Given the description of an element on the screen output the (x, y) to click on. 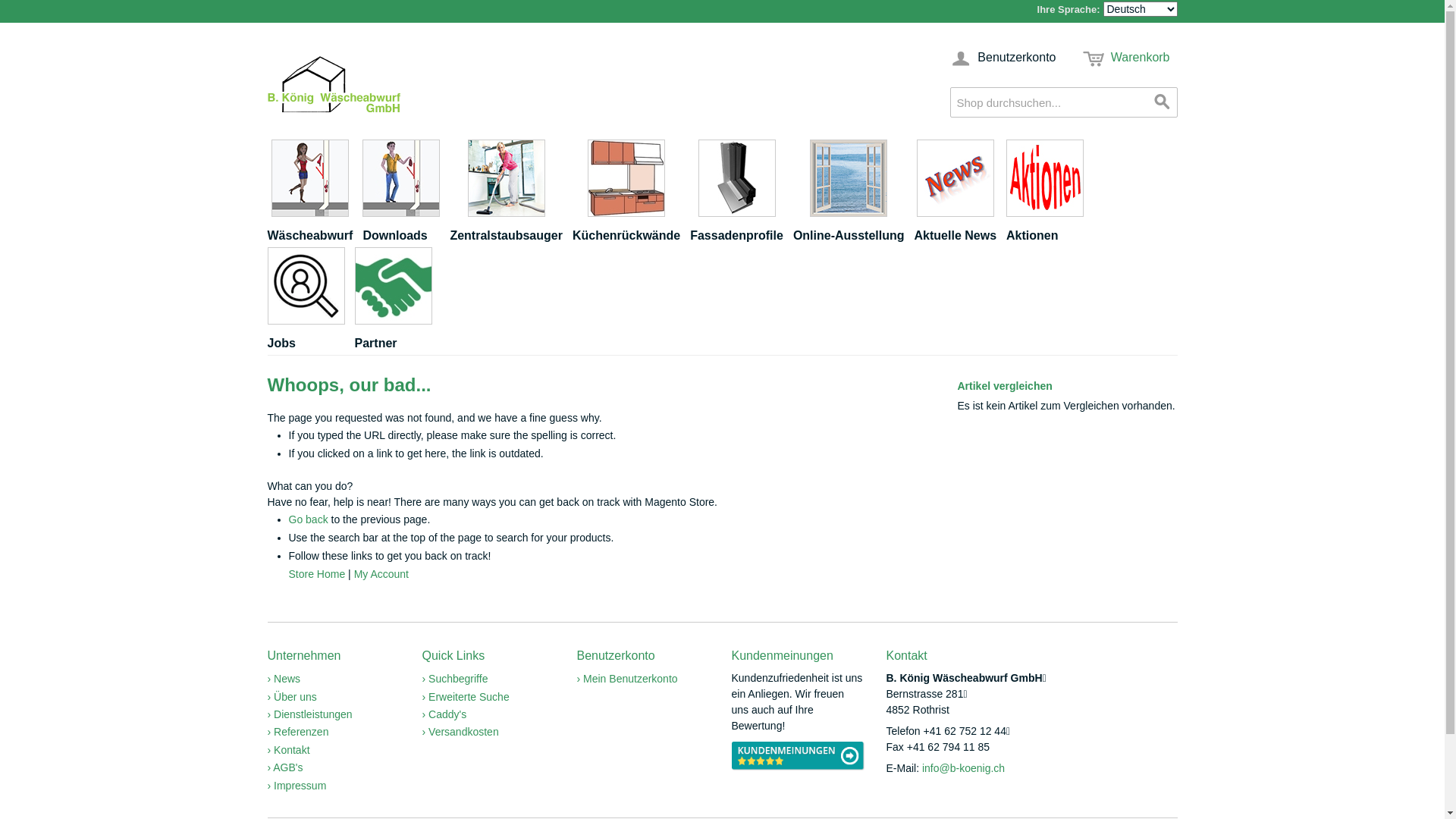
Partner Element type: text (398, 300)
Referenzen Element type: text (297, 731)
info@b-koenig.ch Element type: text (963, 768)
Suchbegriffe Element type: text (454, 678)
Go back Element type: text (307, 519)
Jobs Element type: text (310, 300)
Fassadenprofile Element type: text (741, 193)
Aktionen Element type: text (1049, 193)
My Account Element type: text (381, 573)
Dienstleistungen Element type: text (308, 714)
Erweiterte Suche Element type: text (464, 696)
Mein Benutzerkonto Element type: text (626, 678)
Aktuelle News Element type: text (960, 193)
AGB's Element type: text (284, 767)
News Element type: text (283, 678)
Suche Element type: hover (1161, 102)
Warenkorb Element type: text (1126, 58)
Zentralstaubsauger Element type: text (510, 193)
Online-Ausstellung Element type: text (853, 193)
Versandkosten Element type: text (459, 731)
Kontakt Element type: text (287, 749)
Benutzerkonto Element type: text (1002, 58)
Caddy's Element type: text (443, 714)
Downloads Element type: text (405, 193)
Store Home Element type: text (316, 573)
Impressum Element type: text (296, 785)
